Given the description of an element on the screen output the (x, y) to click on. 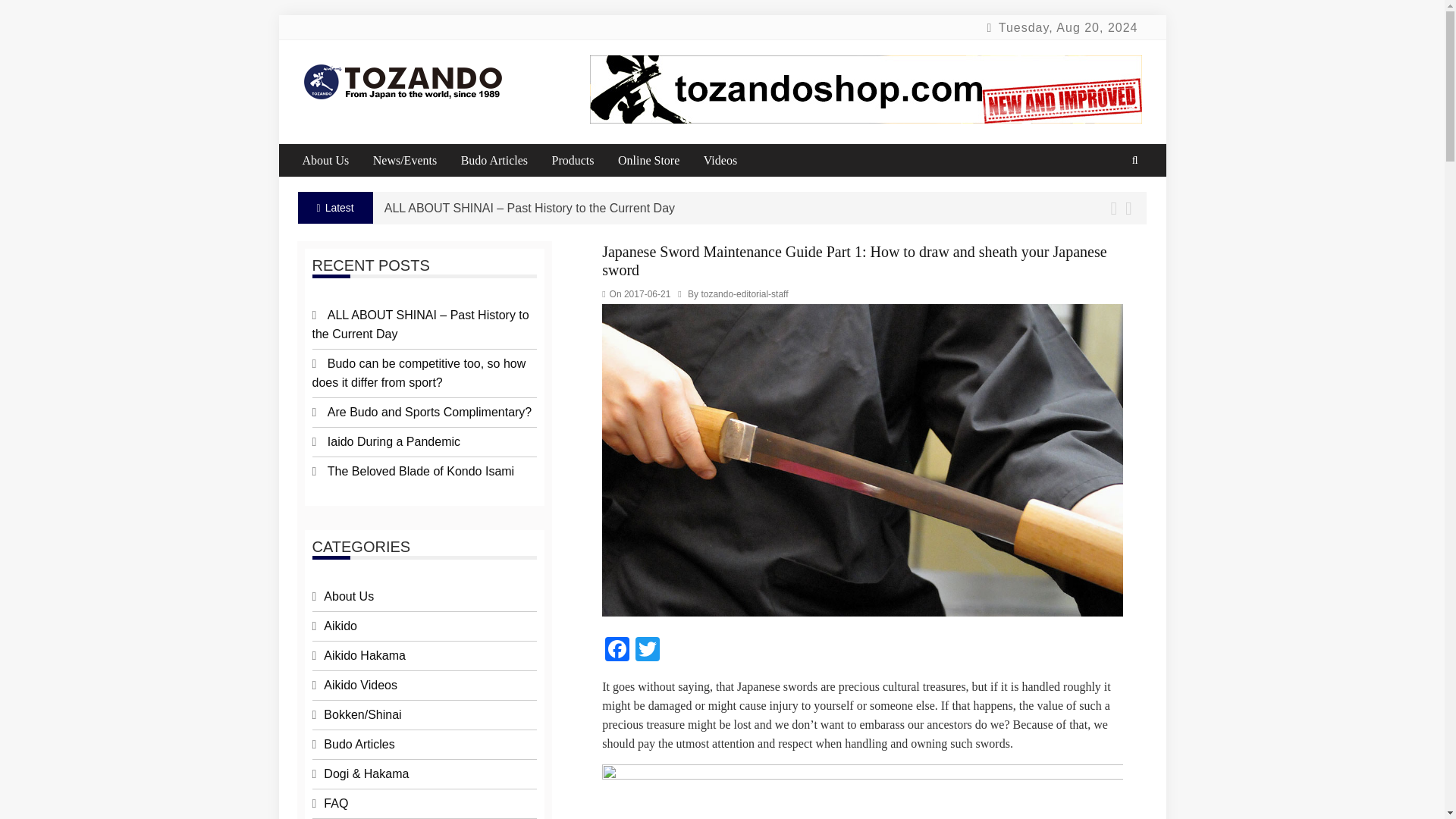
Twitter (646, 651)
Online Store (658, 160)
Products (582, 160)
About Us (335, 160)
Facebook (616, 651)
TOZANDO (373, 87)
Budo Articles (504, 160)
Videos (730, 160)
